Given the description of an element on the screen output the (x, y) to click on. 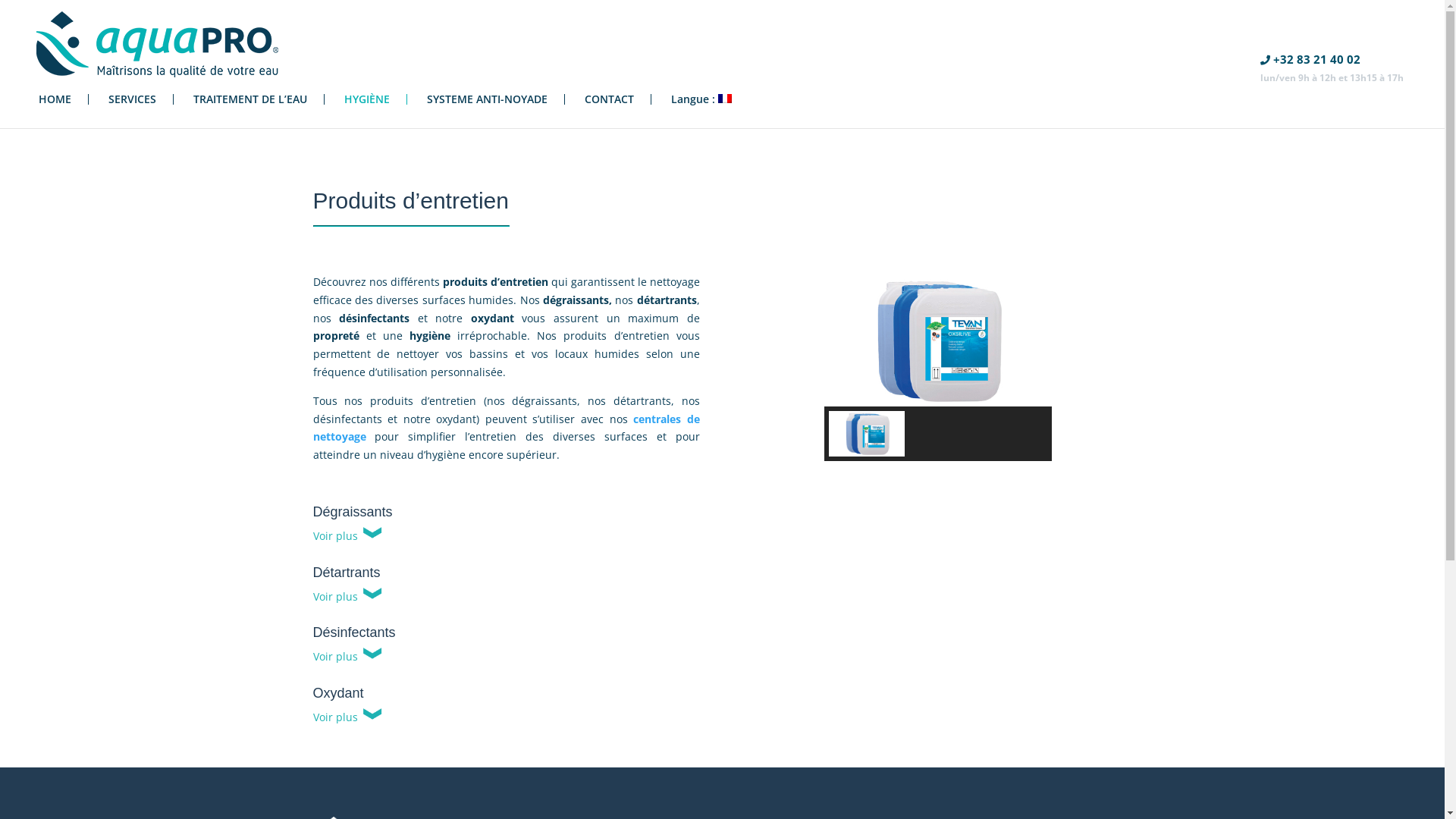
CONTACT Element type: text (617, 99)
Voir plus Element type: text (347, 716)
centrales de nettoyage Element type: text (505, 427)
Voir plus Element type: text (347, 656)
SYSTEME ANTI-NOYADE Element type: text (495, 99)
SERVICES Element type: text (140, 99)
Voir plus Element type: text (347, 596)
HOME Element type: text (63, 99)
Langue :  Element type: text (708, 105)
Voir plus Element type: text (347, 535)
